Given the description of an element on the screen output the (x, y) to click on. 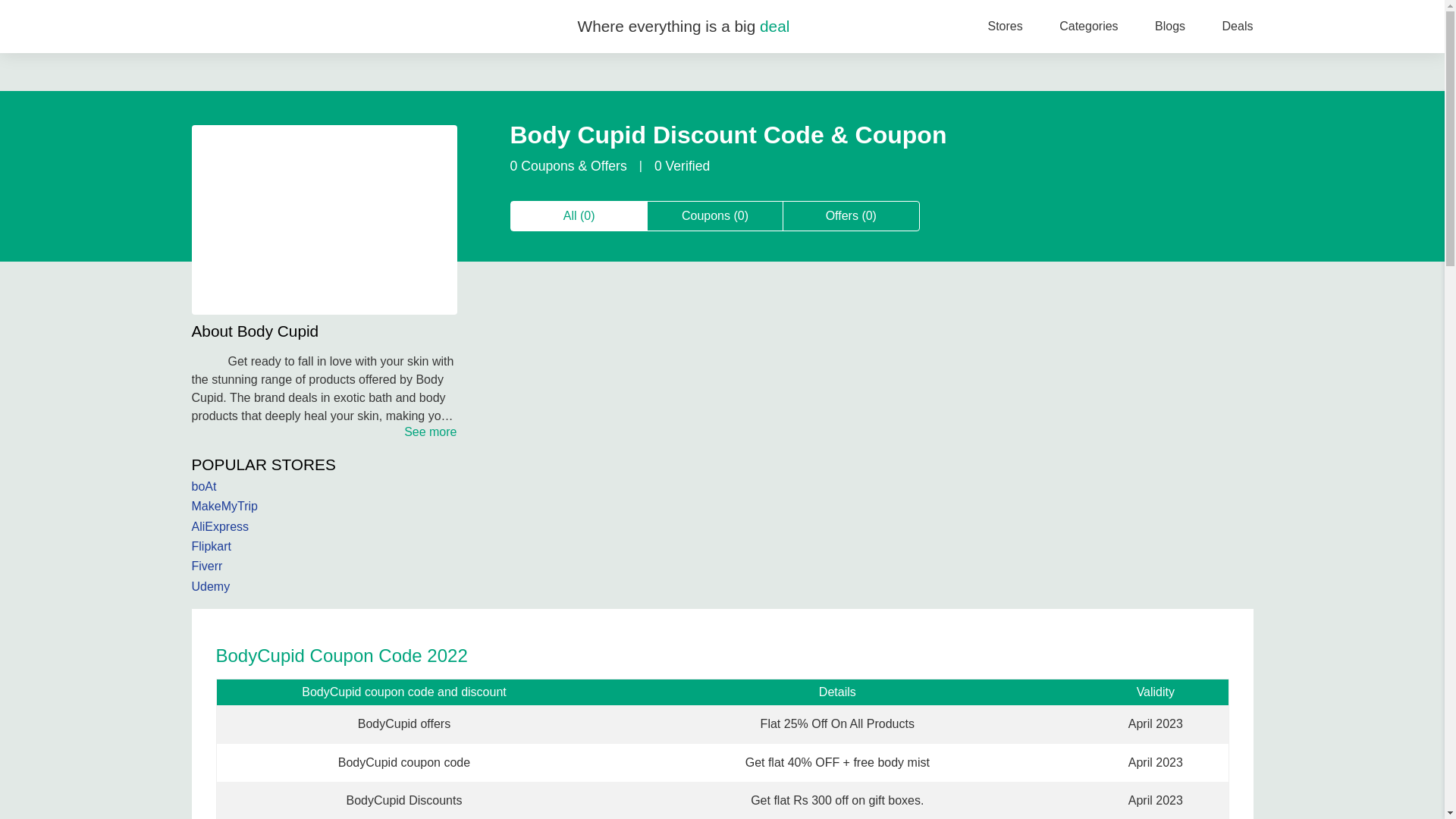
Deals (1238, 26)
MakeMyTrip (323, 506)
AliExpress (323, 526)
boAt (323, 486)
Flipkart (323, 546)
Categories (1088, 26)
See more (430, 431)
Stores (1004, 26)
Udemy (323, 586)
Fiverr (323, 566)
